Given the description of an element on the screen output the (x, y) to click on. 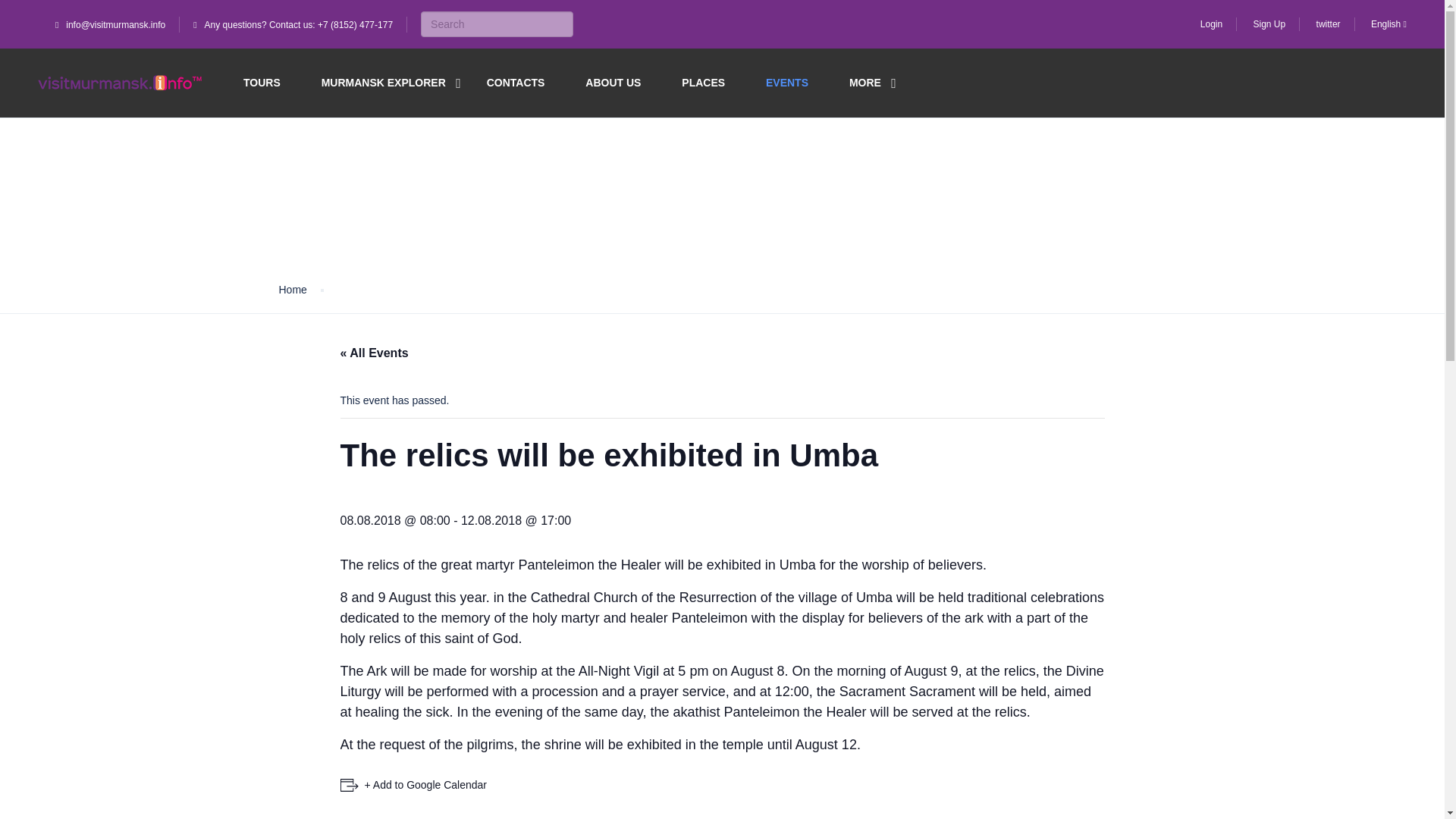
English (1388, 23)
PLACES (703, 82)
TOURS (261, 82)
ABOUT US (612, 82)
Login (1211, 23)
Home (293, 289)
Sign Up (1268, 23)
MURMANSK EXPLORER (383, 82)
Add to Google Calendar (412, 784)
twitter (1328, 23)
CONTACTS (515, 82)
EVENTS (786, 82)
MORE (864, 82)
